Given the description of an element on the screen output the (x, y) to click on. 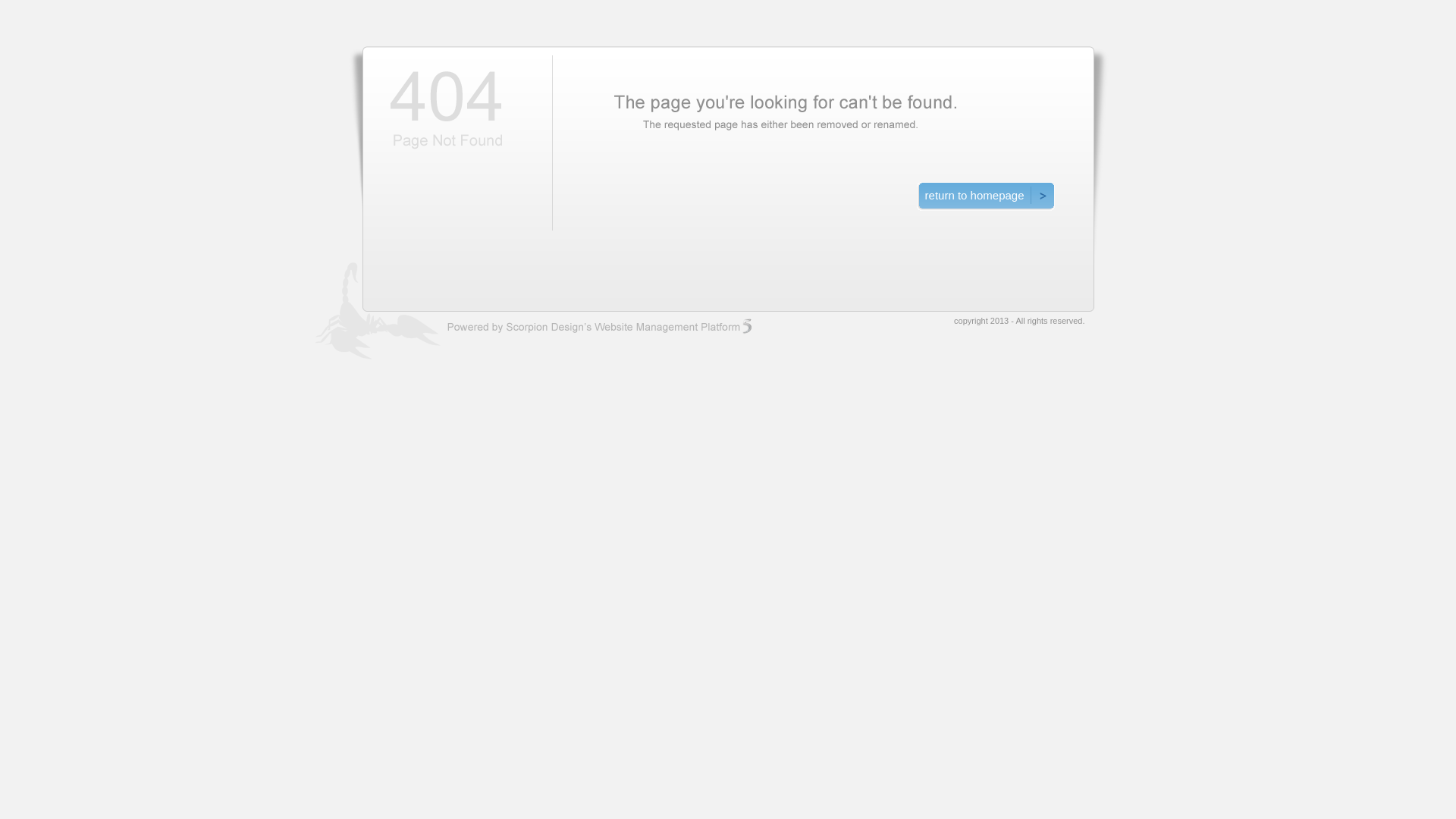
return to homepage (985, 195)
